Given the description of an element on the screen output the (x, y) to click on. 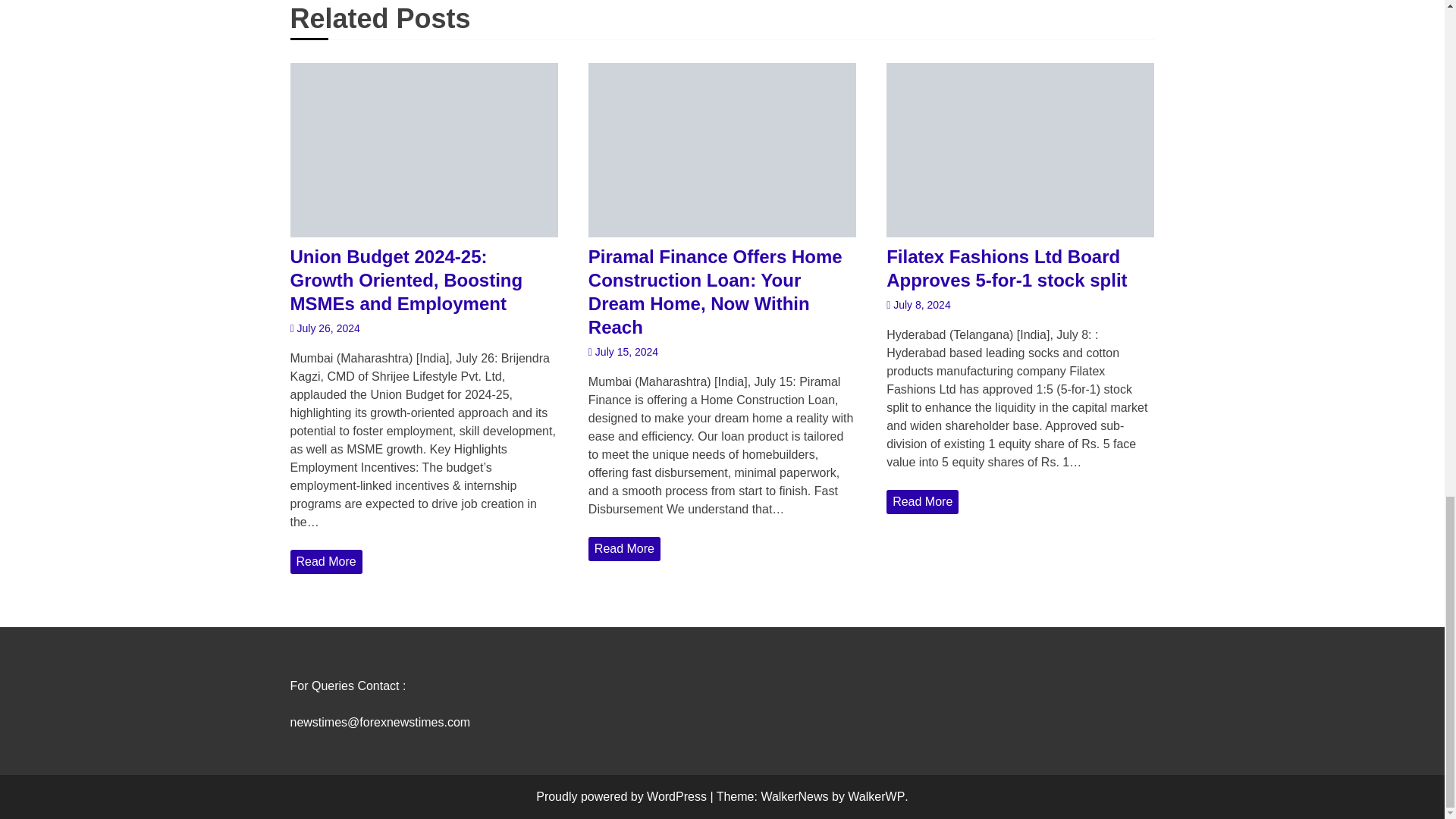
Read More (325, 561)
Read More (624, 549)
July 15, 2024 (623, 351)
July 8, 2024 (918, 304)
Filatex Fashions Ltd Board Approves 5-for-1 stock split (1020, 267)
July 26, 2024 (324, 328)
